Given the description of an element on the screen output the (x, y) to click on. 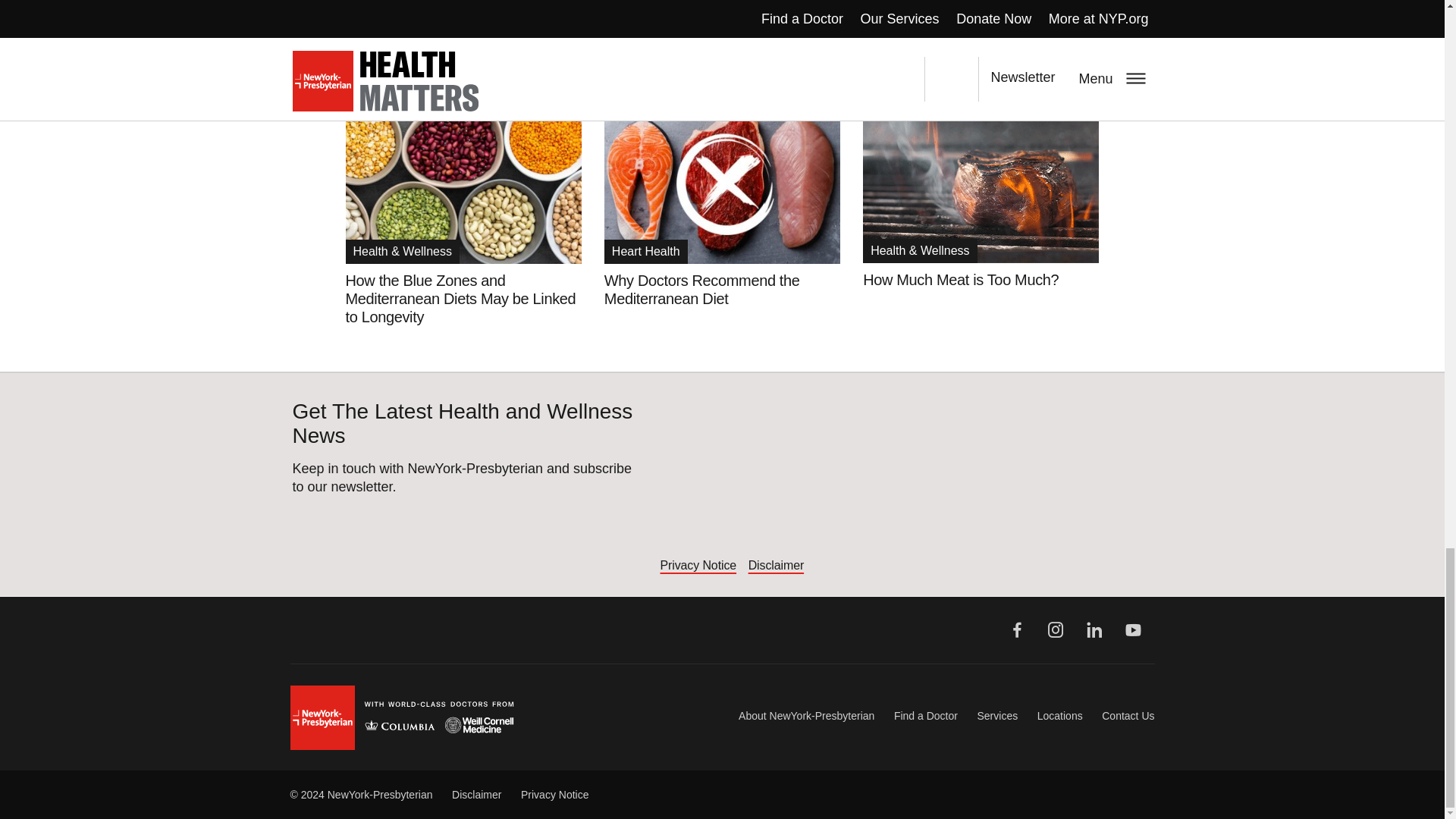
newsletter signup form (905, 478)
Visit nyp.org (401, 717)
